Given the description of an element on the screen output the (x, y) to click on. 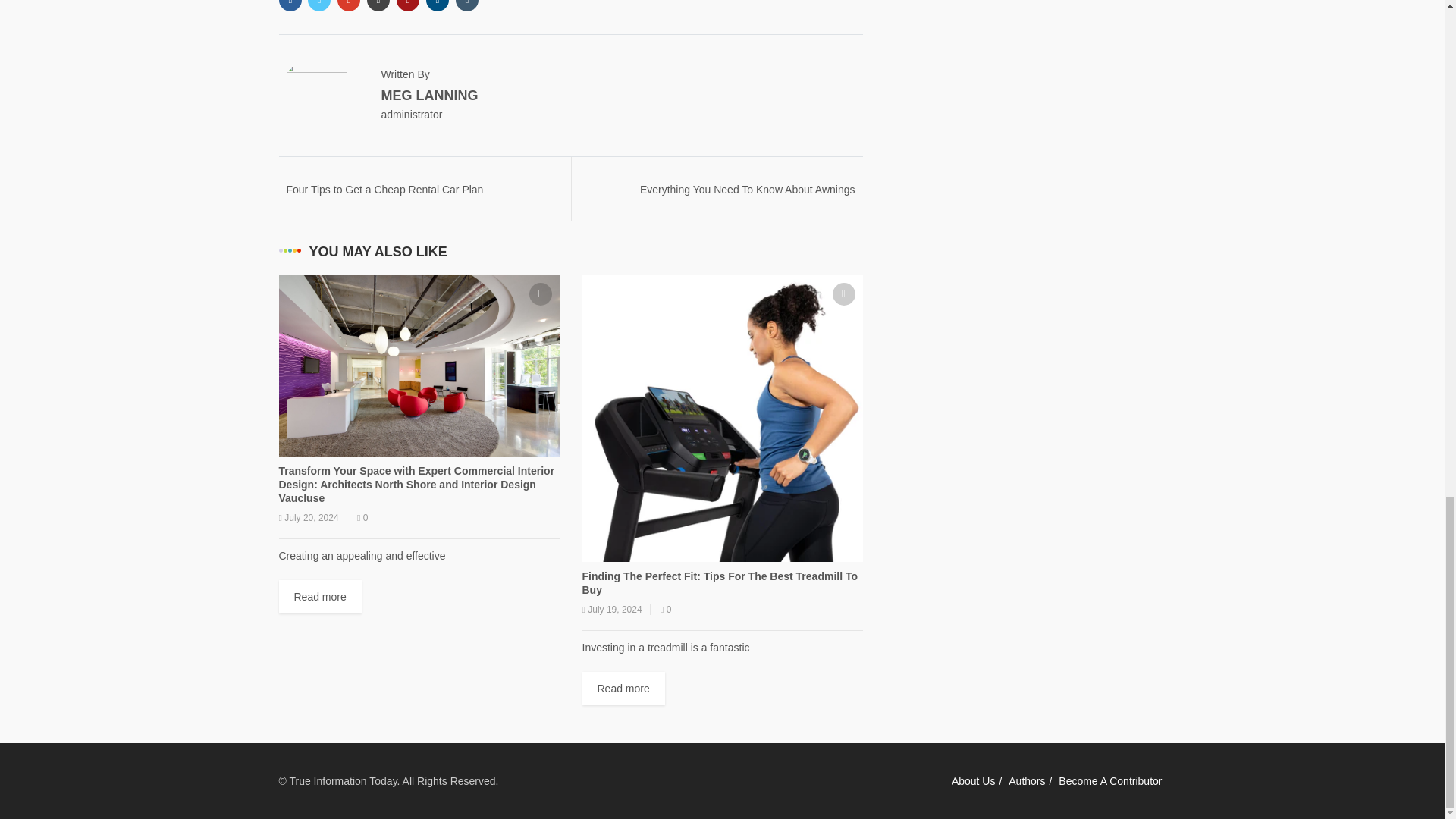
Four Tips to Get a Cheap Rental Car Plan (384, 189)
0 (362, 517)
Read more (623, 688)
Read more (320, 596)
MEG LANNING (428, 95)
0 (666, 609)
Everything You Need To Know About Awnings Product (748, 196)
Finding The Perfect Fit: Tips For The Best Treadmill To Buy (722, 583)
